Given the description of an element on the screen output the (x, y) to click on. 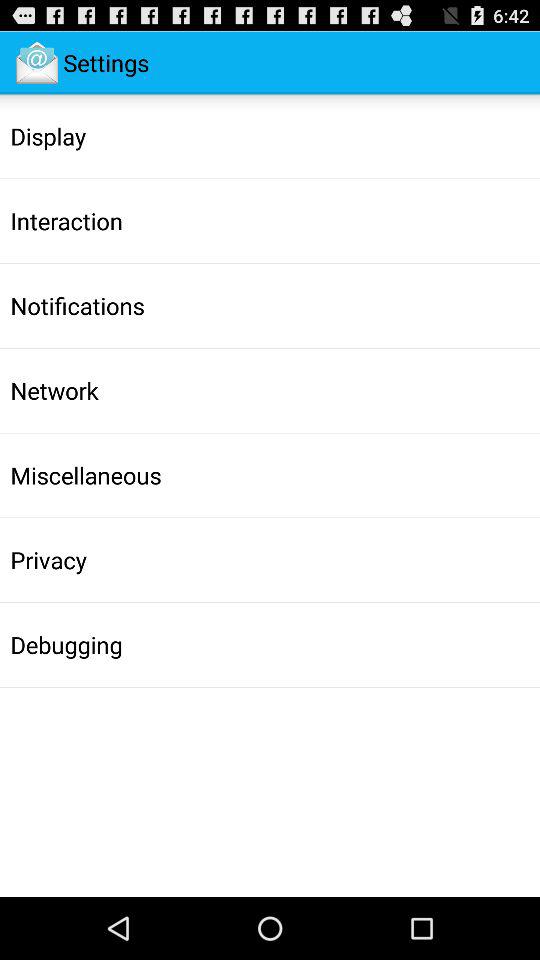
choose the item above the miscellaneous (54, 390)
